Given the description of an element on the screen output the (x, y) to click on. 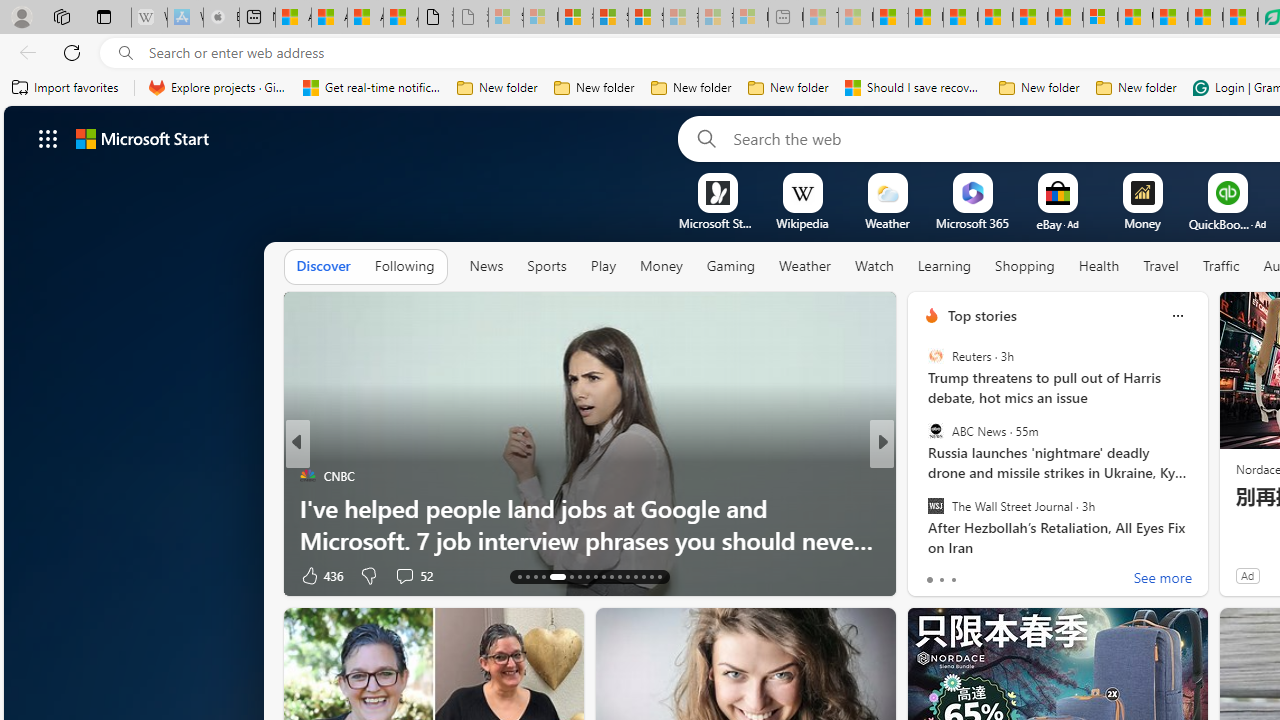
1 Like (930, 574)
View comments 70 Comment (1029, 574)
View comments 325 Comment (1019, 575)
4 Like (930, 574)
AutomationID: tab-14 (527, 576)
